Given the description of an element on the screen output the (x, y) to click on. 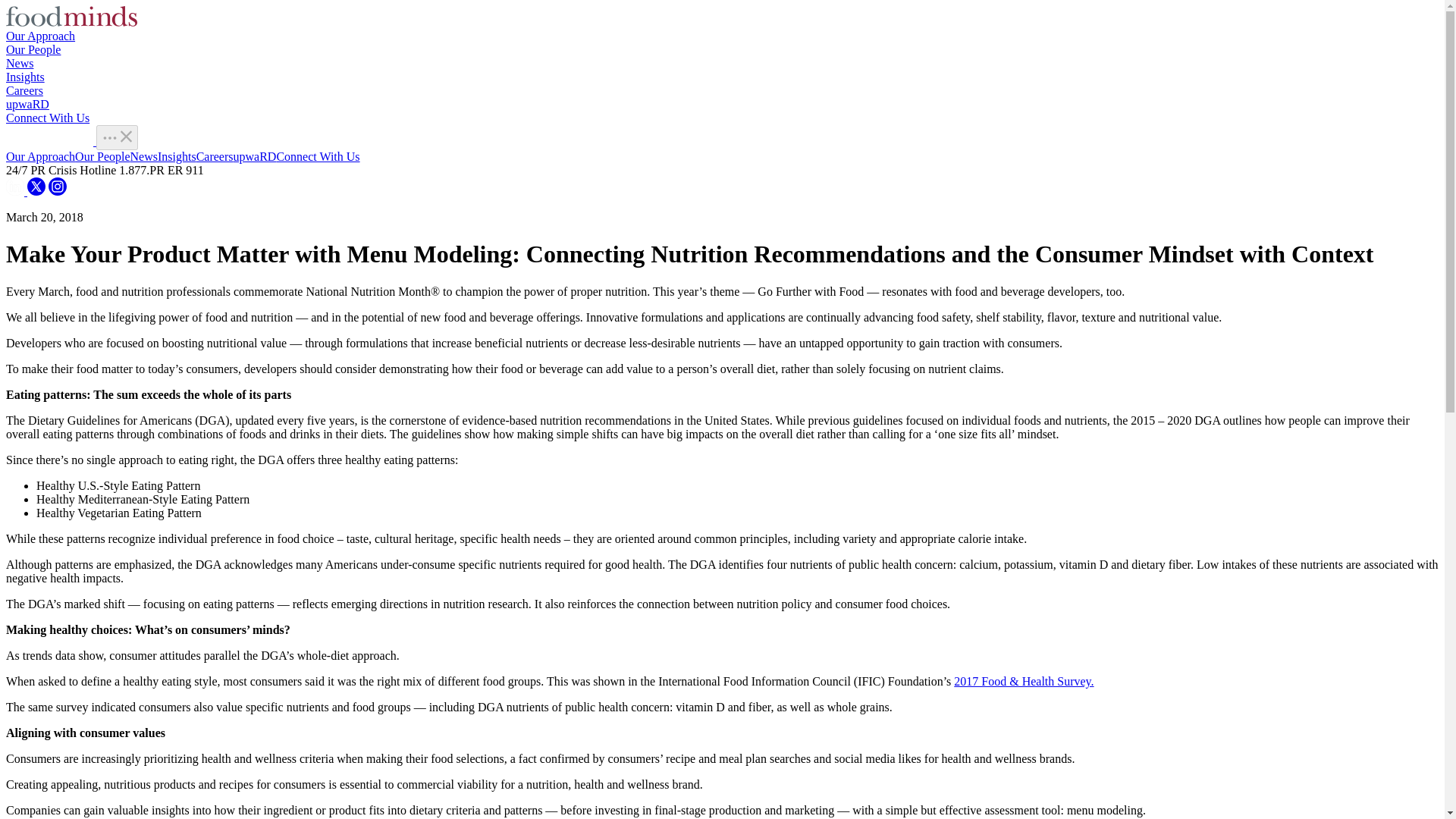
Open Menu (109, 137)
Open Menu Close (117, 137)
upwaRD (27, 103)
Our People (33, 49)
News (19, 62)
Insights (176, 155)
upwaRD (254, 155)
Twitter (36, 191)
Our Approach (40, 155)
FoodMinds (49, 138)
FoodMinds (50, 141)
News (144, 155)
Our Approach (40, 35)
Careers (24, 90)
Instagram (57, 191)
